Given the description of an element on the screen output the (x, y) to click on. 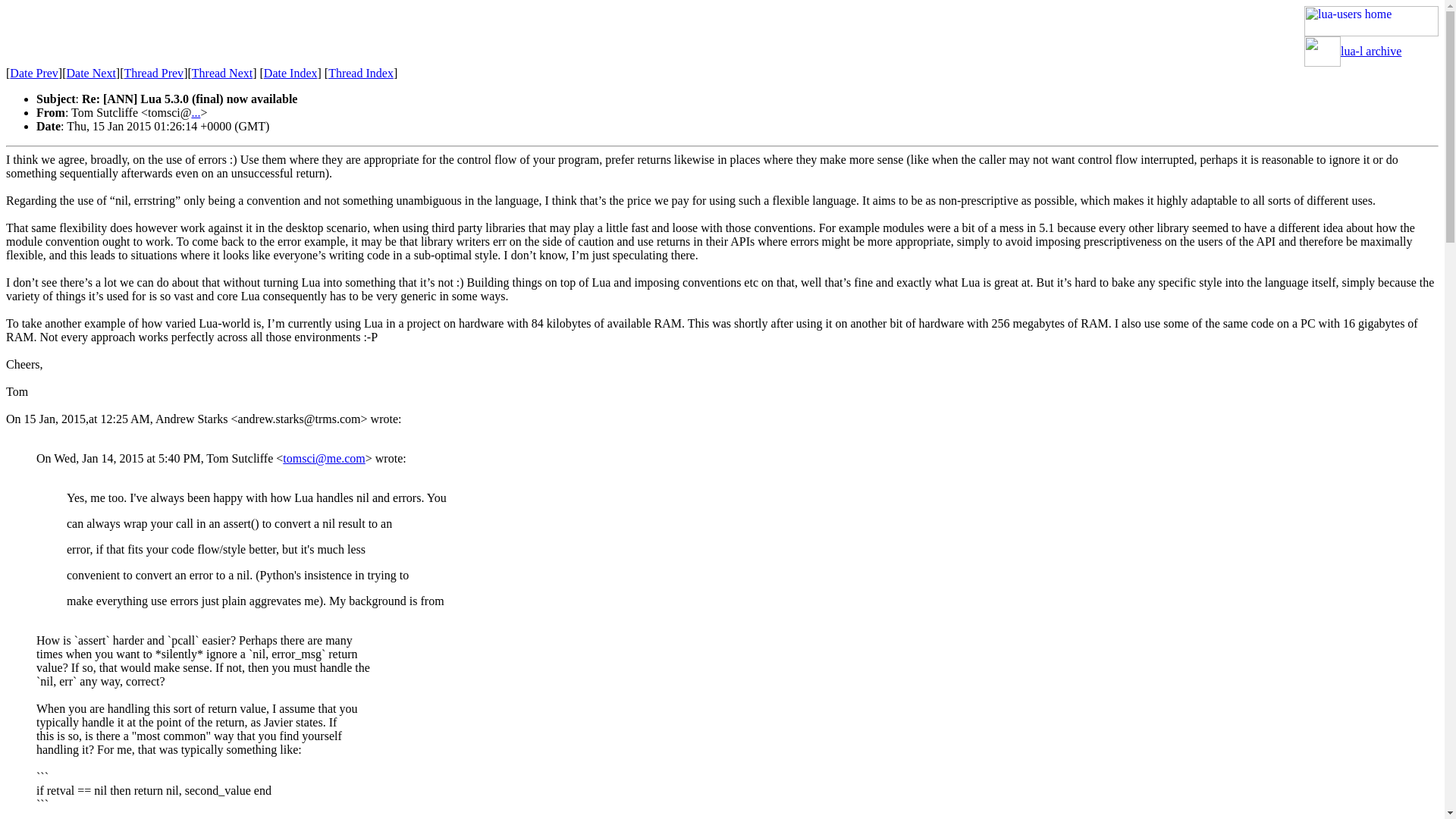
Date Prev (34, 72)
lua-l archive (1370, 51)
Thread Prev (153, 72)
Date Index (290, 72)
Thread Next (221, 72)
Date Next (91, 72)
Thread Index (361, 72)
